Given the description of an element on the screen output the (x, y) to click on. 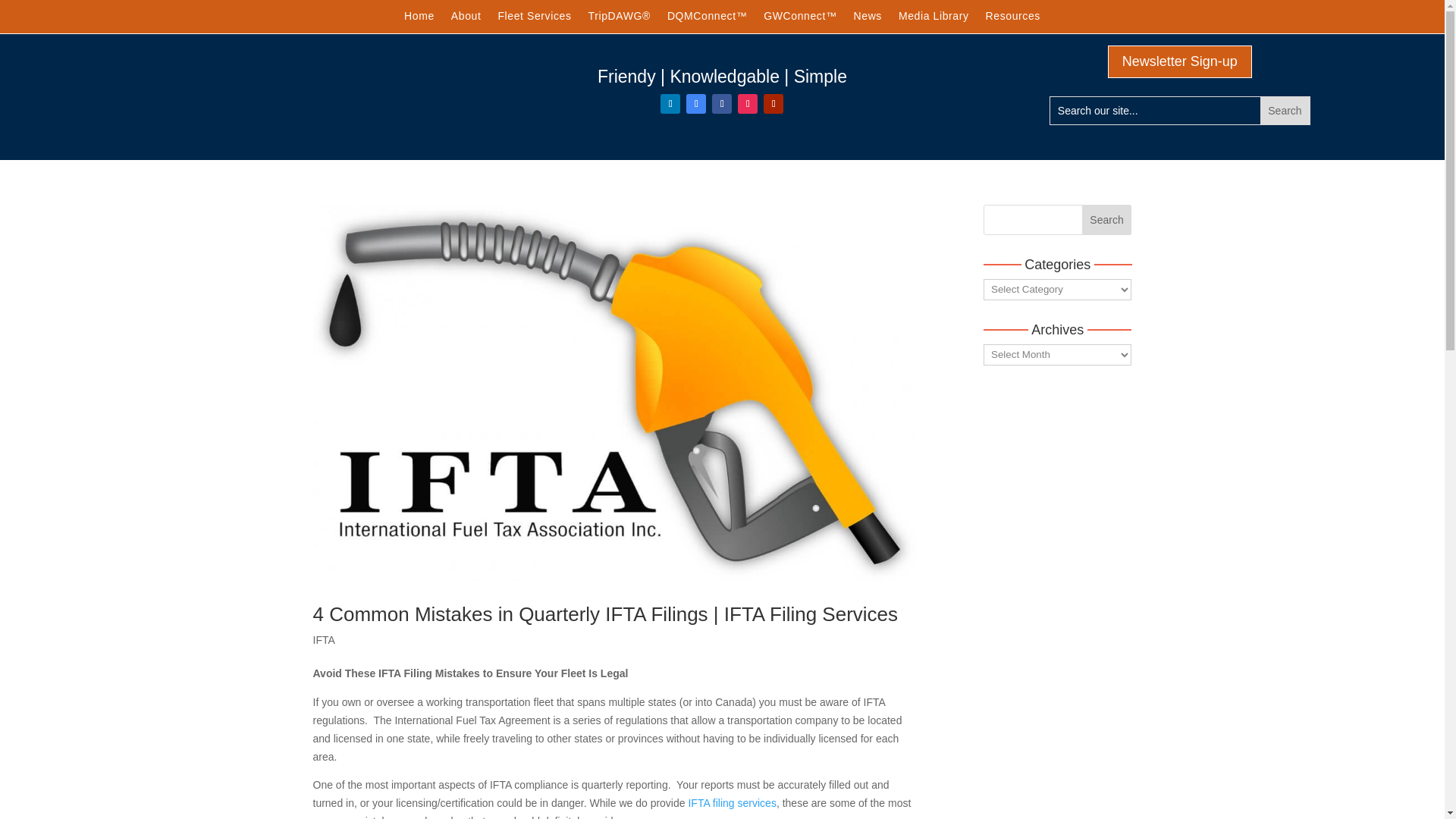
Search (1284, 110)
Follow on Facebook (721, 103)
Media Library (933, 19)
Search (1284, 110)
Newsletter Sign-up (1180, 61)
Follow on Instagram (747, 103)
Follow on LinkedIn (670, 103)
Fleet Services (533, 19)
Home (418, 19)
Follow on Google (695, 103)
About (466, 19)
Search (1106, 219)
News (867, 19)
Follow on Youtube (772, 103)
Search (1284, 110)
